Given the description of an element on the screen output the (x, y) to click on. 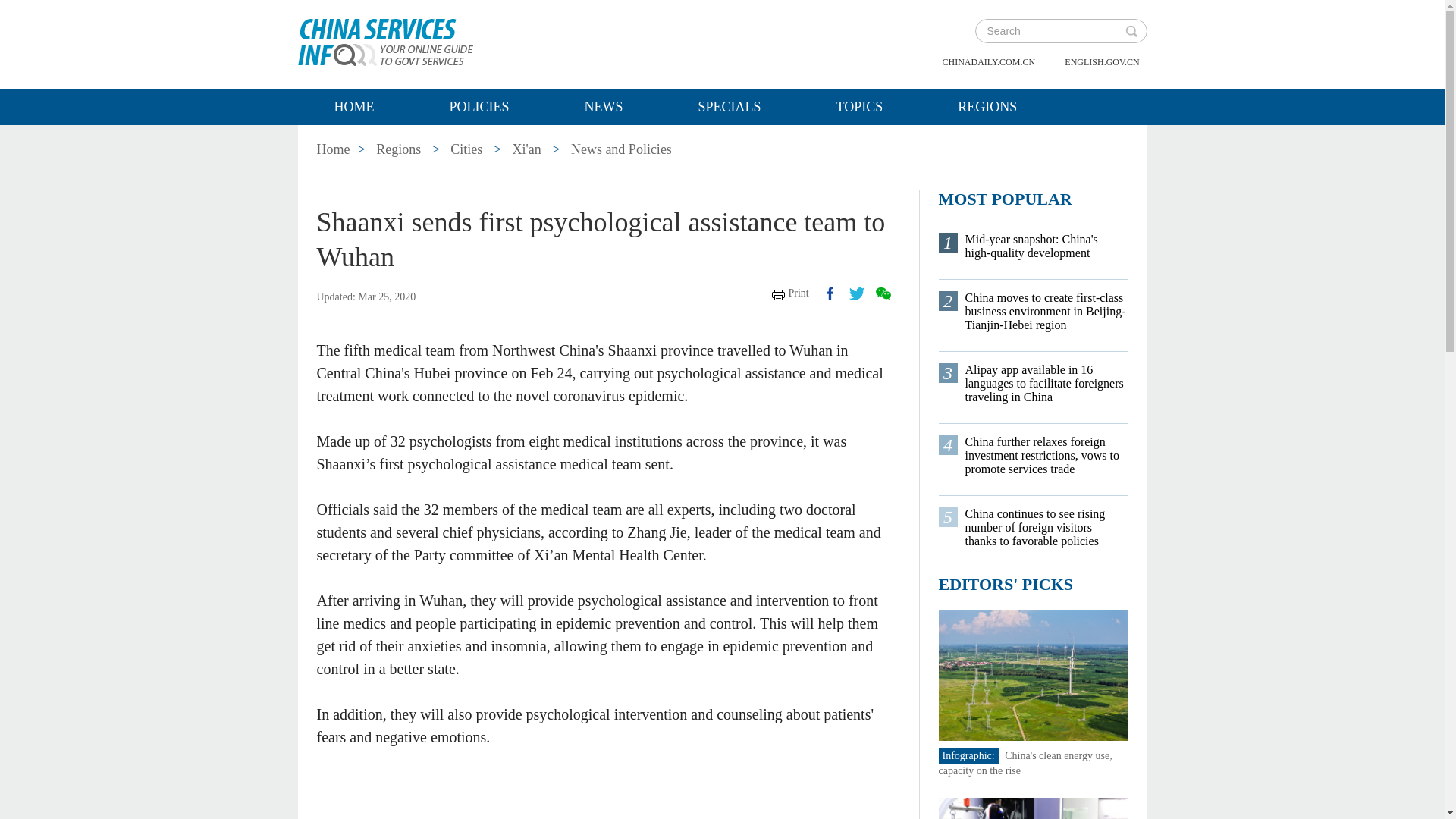
twitter (856, 293)
Regions (397, 149)
wechat (882, 293)
SPECIALS (729, 106)
Cities (465, 149)
Regions (397, 149)
Home (333, 149)
News and Policies (620, 149)
Home (353, 106)
